Given the description of an element on the screen output the (x, y) to click on. 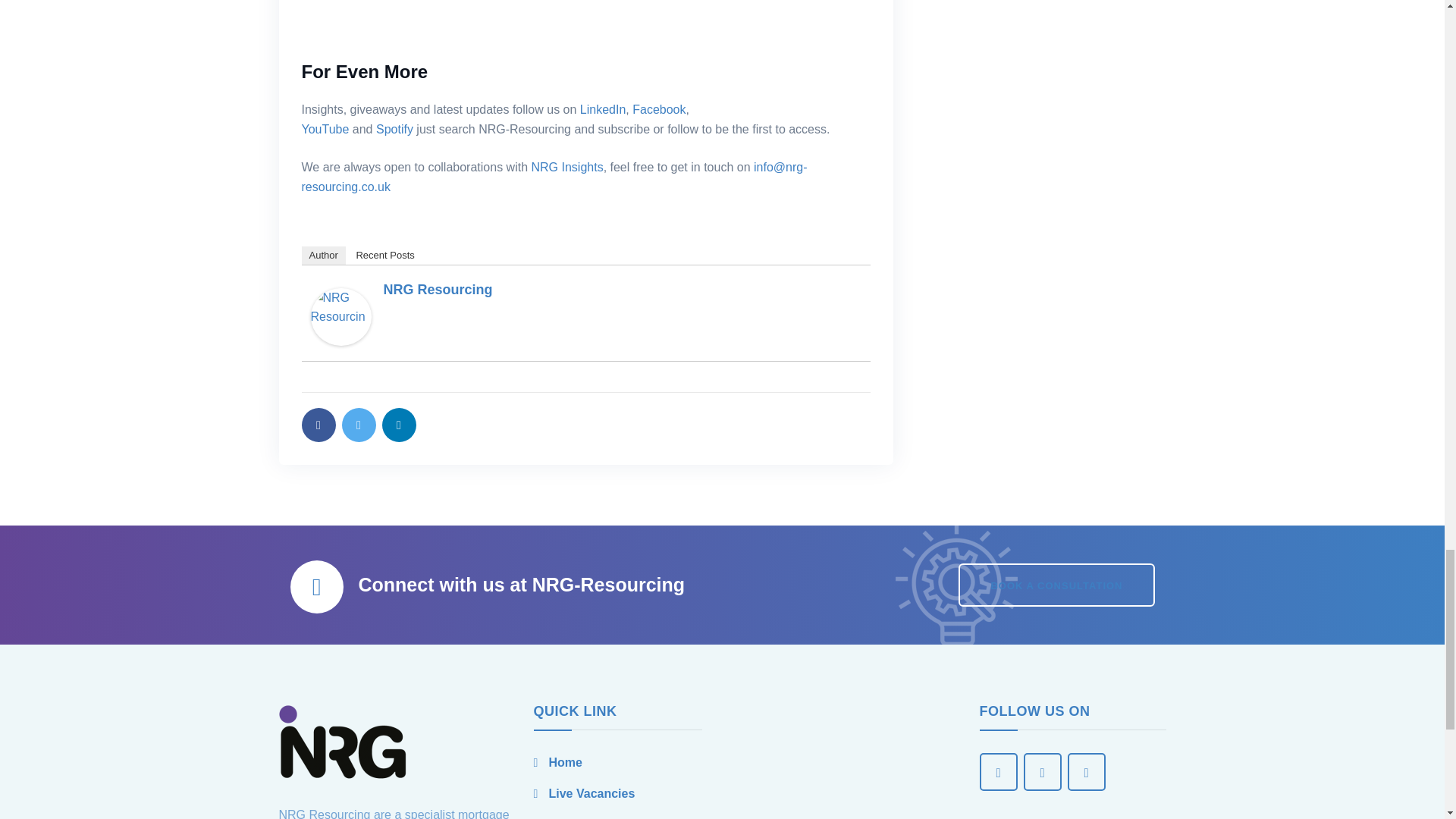
Author (323, 255)
NRG Resourcing (341, 315)
Share on LinkedIn (398, 424)
YouTube (325, 128)
Share on Facebook (318, 424)
NRG Insights (566, 166)
Recent Posts (384, 255)
Share on Twitter (357, 424)
LinkedIn (602, 109)
NRG Resourcing (438, 289)
Facebook (658, 109)
Spotify (394, 128)
